Given the description of an element on the screen output the (x, y) to click on. 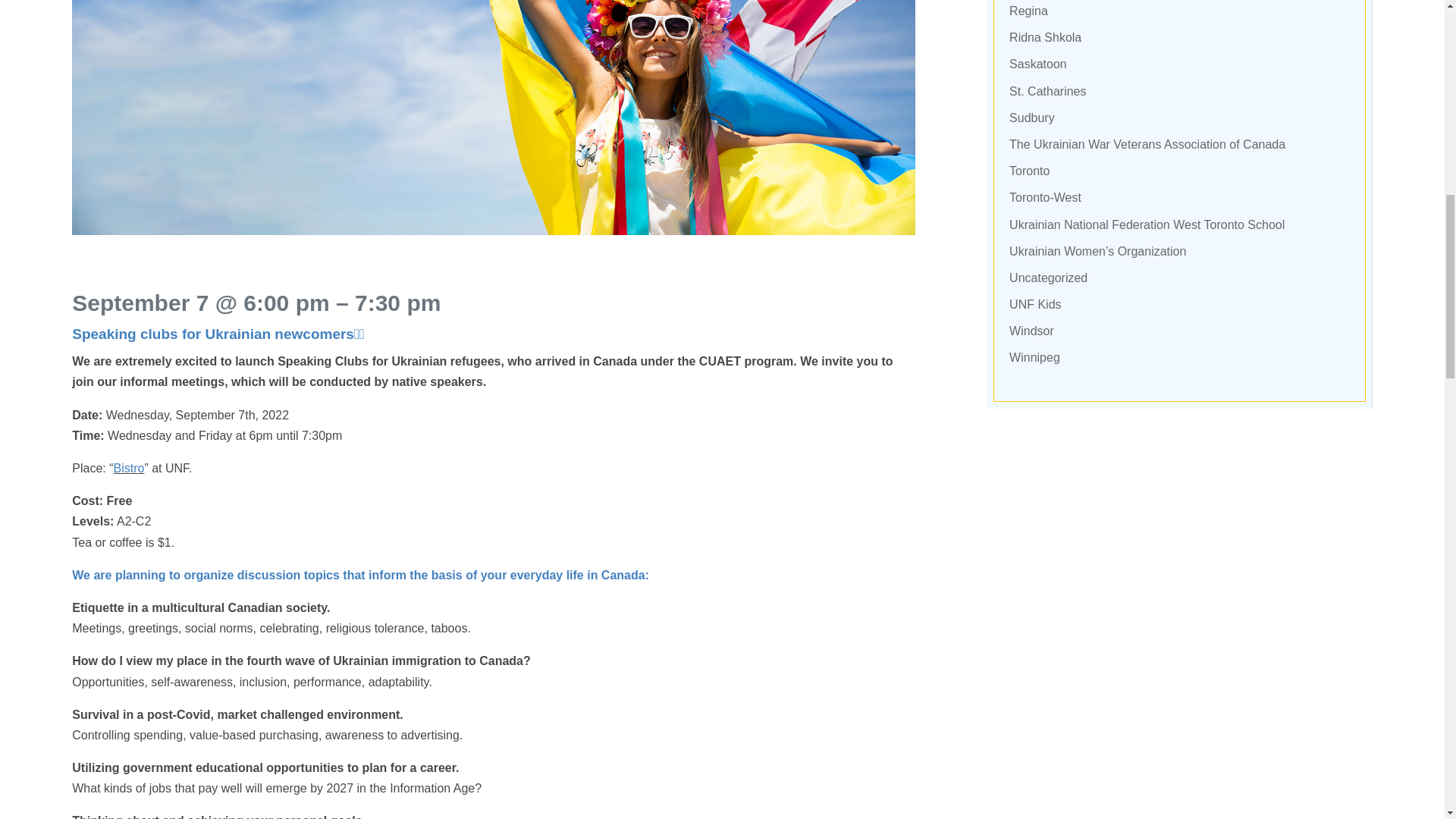
UNO Bistro (128, 468)
